Given the description of an element on the screen output the (x, y) to click on. 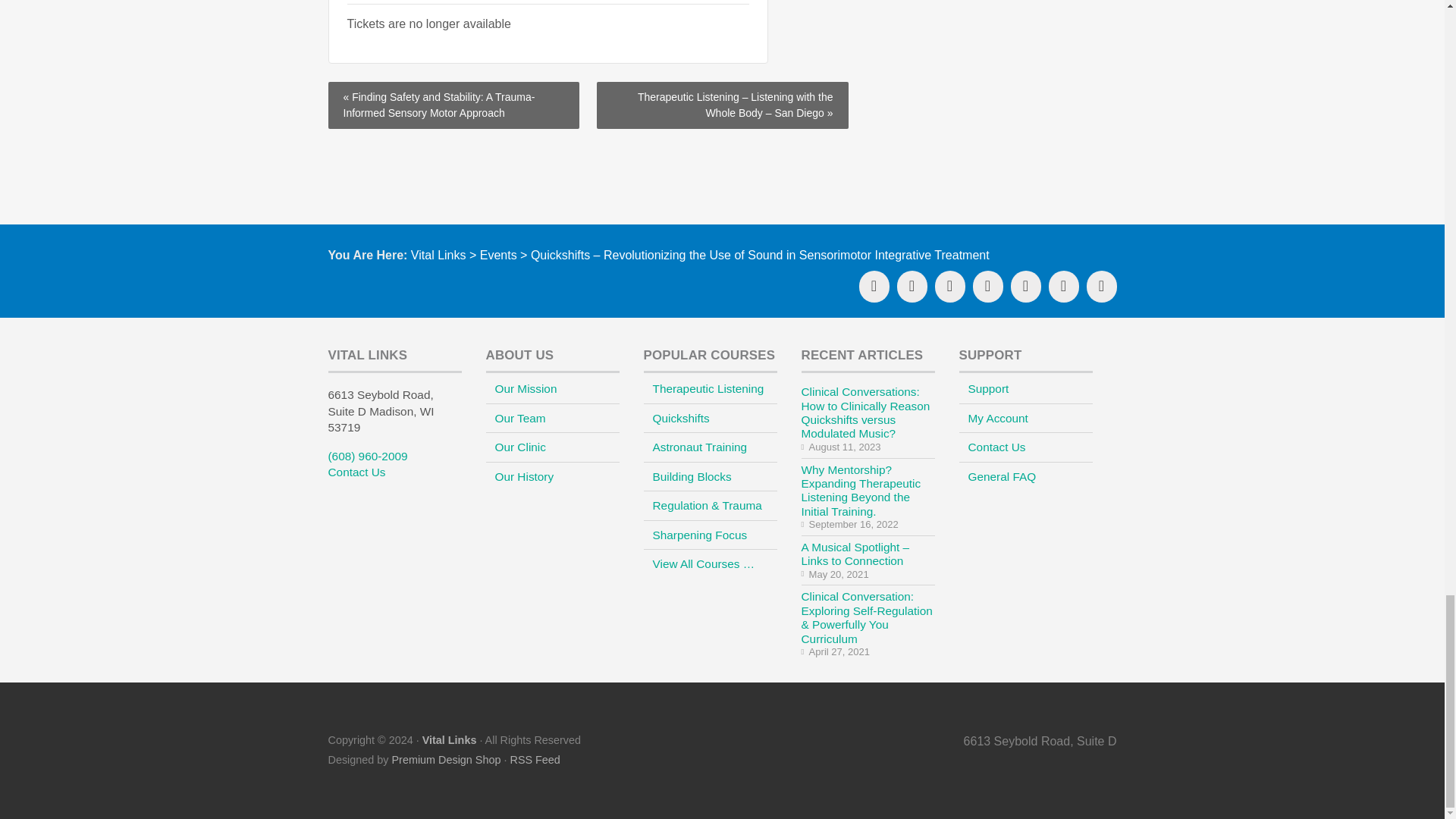
Go to Events. (498, 254)
Go to Vital Links. (437, 254)
